Given the description of an element on the screen output the (x, y) to click on. 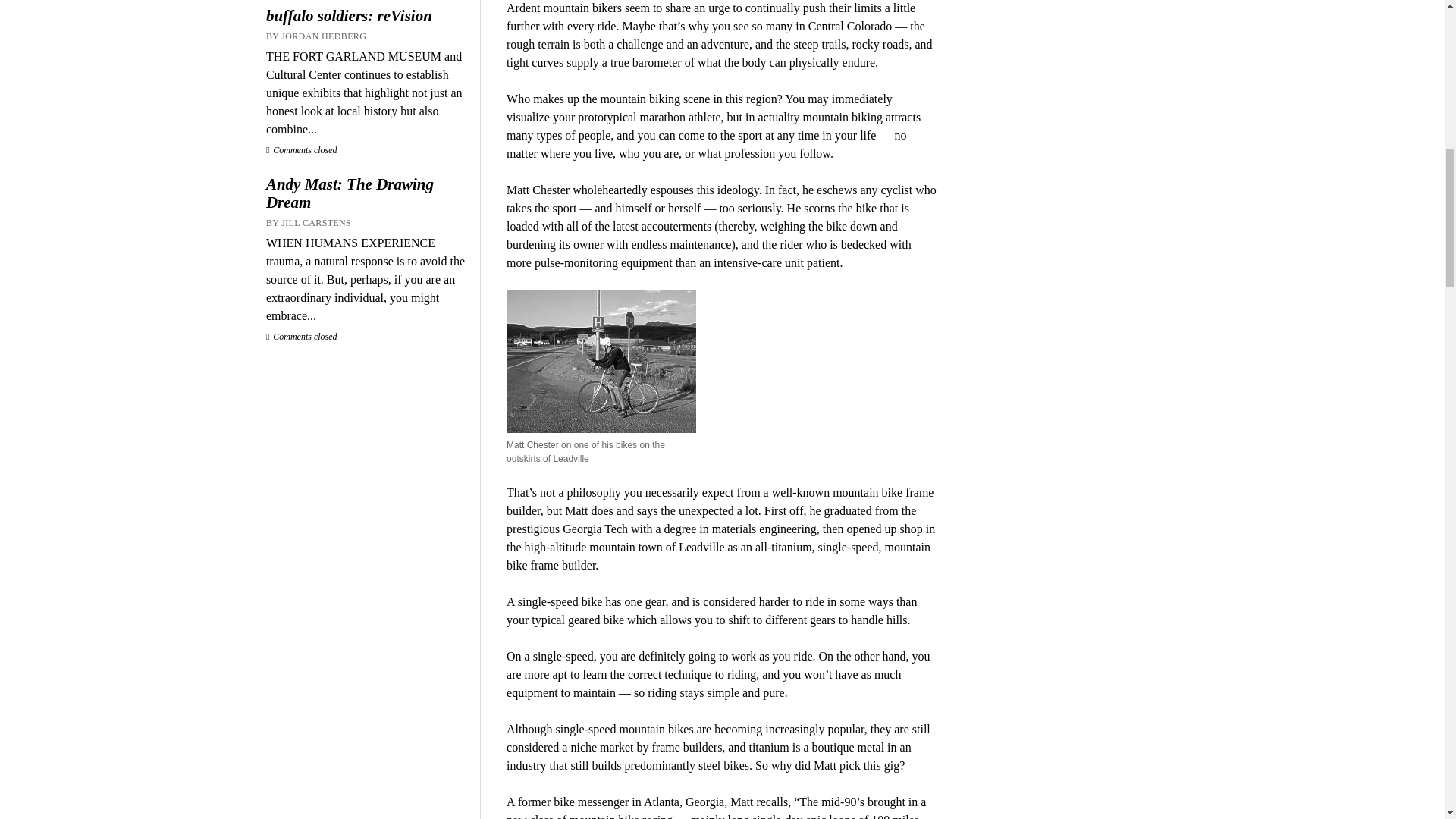
Comments closed (301, 149)
buffalo soldiers: reVision (365, 15)
Comments closed (301, 336)
Andy Mast: The Drawing Dream (365, 193)
